Given the description of an element on the screen output the (x, y) to click on. 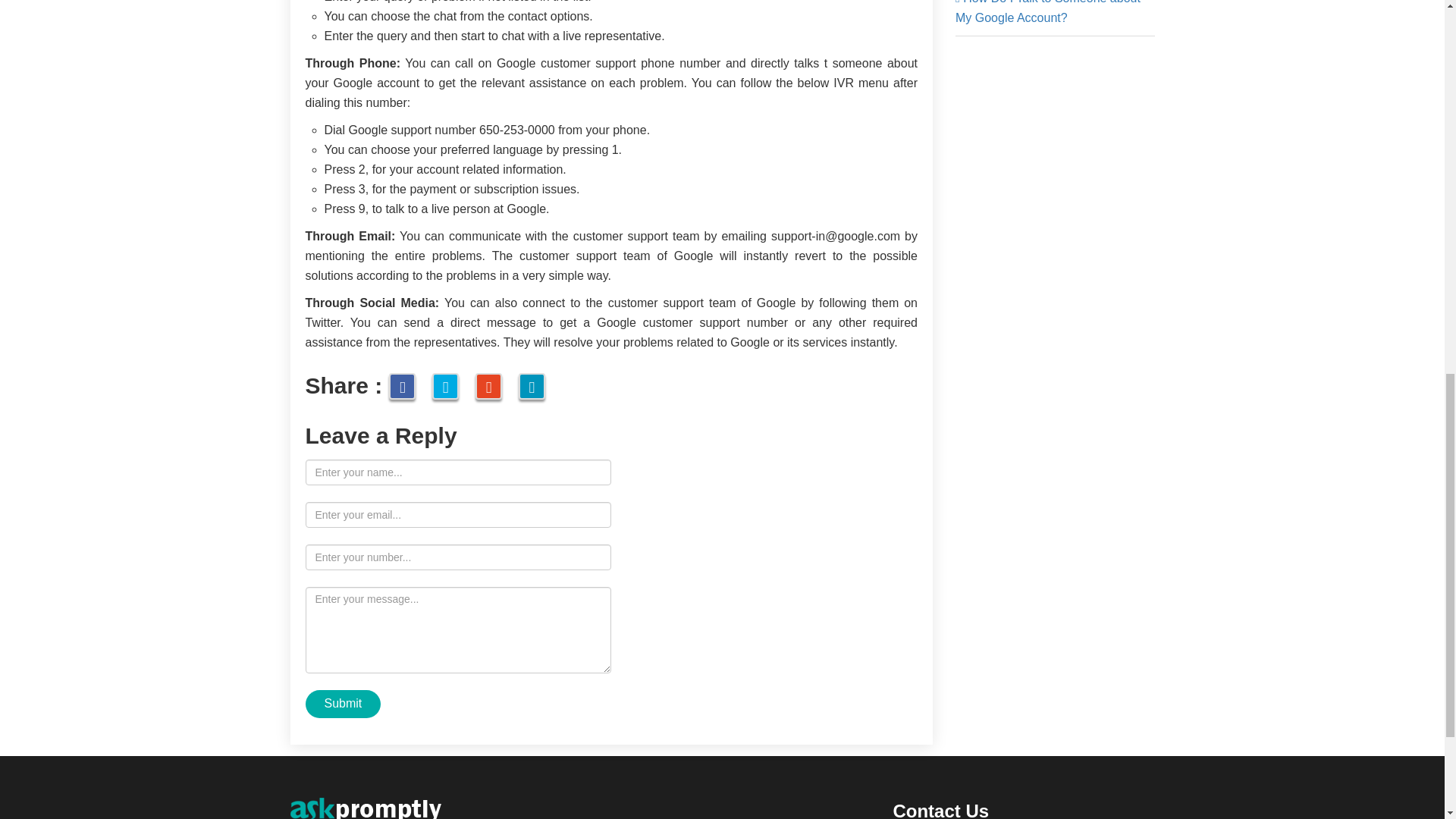
How Do I Talk to Someone about My Google Account? (1047, 12)
Submit (342, 704)
